Given the description of an element on the screen output the (x, y) to click on. 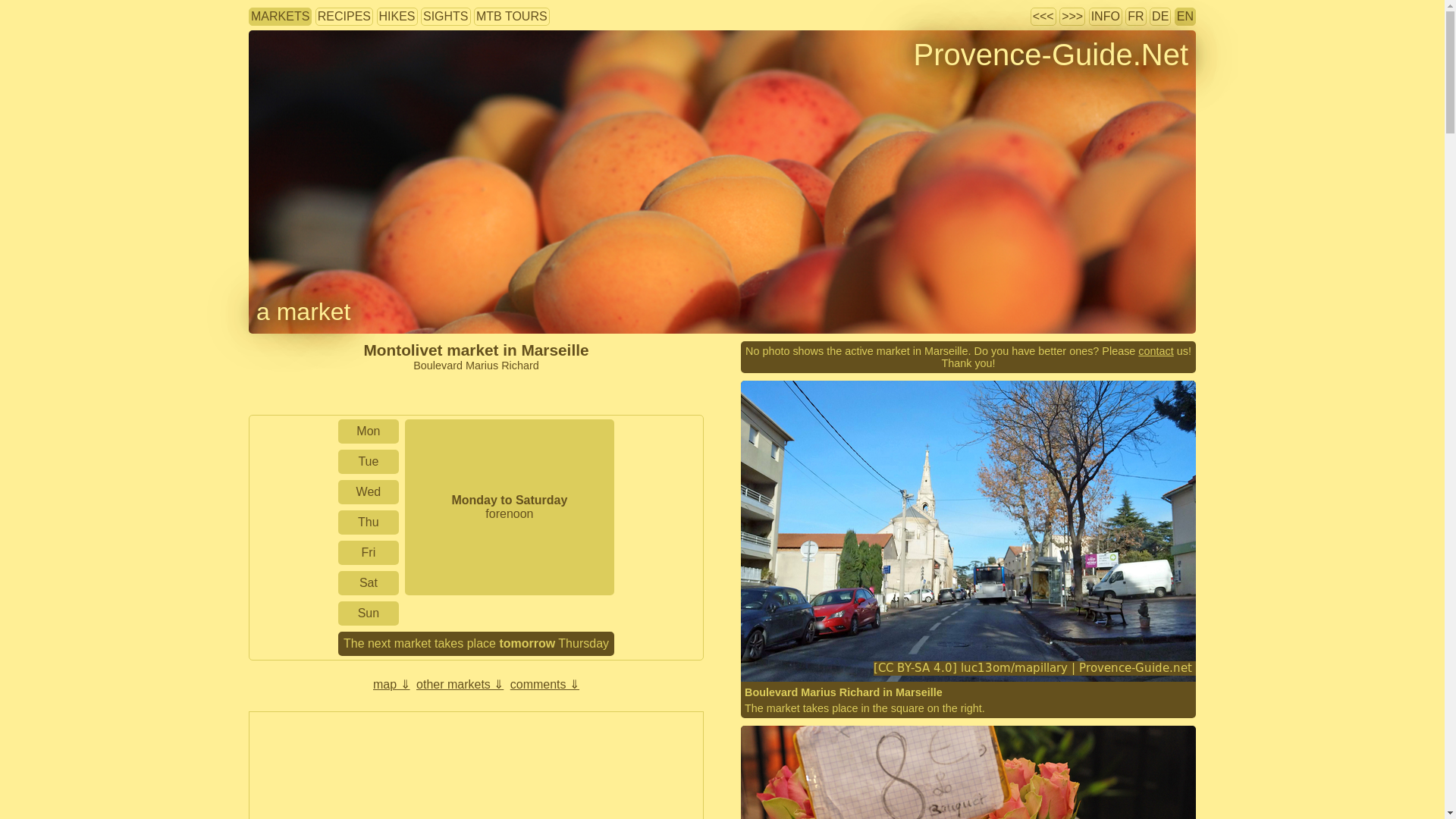
back to selection (303, 311)
flowers and crop (509, 393)
main page (1051, 54)
fruit and vegetables (444, 393)
DE (1160, 15)
Friday (368, 552)
Provence-Guide.Net (1051, 54)
SIGHTS (445, 15)
all hikes (396, 15)
See this page in English (1184, 15)
